Given the description of an element on the screen output the (x, y) to click on. 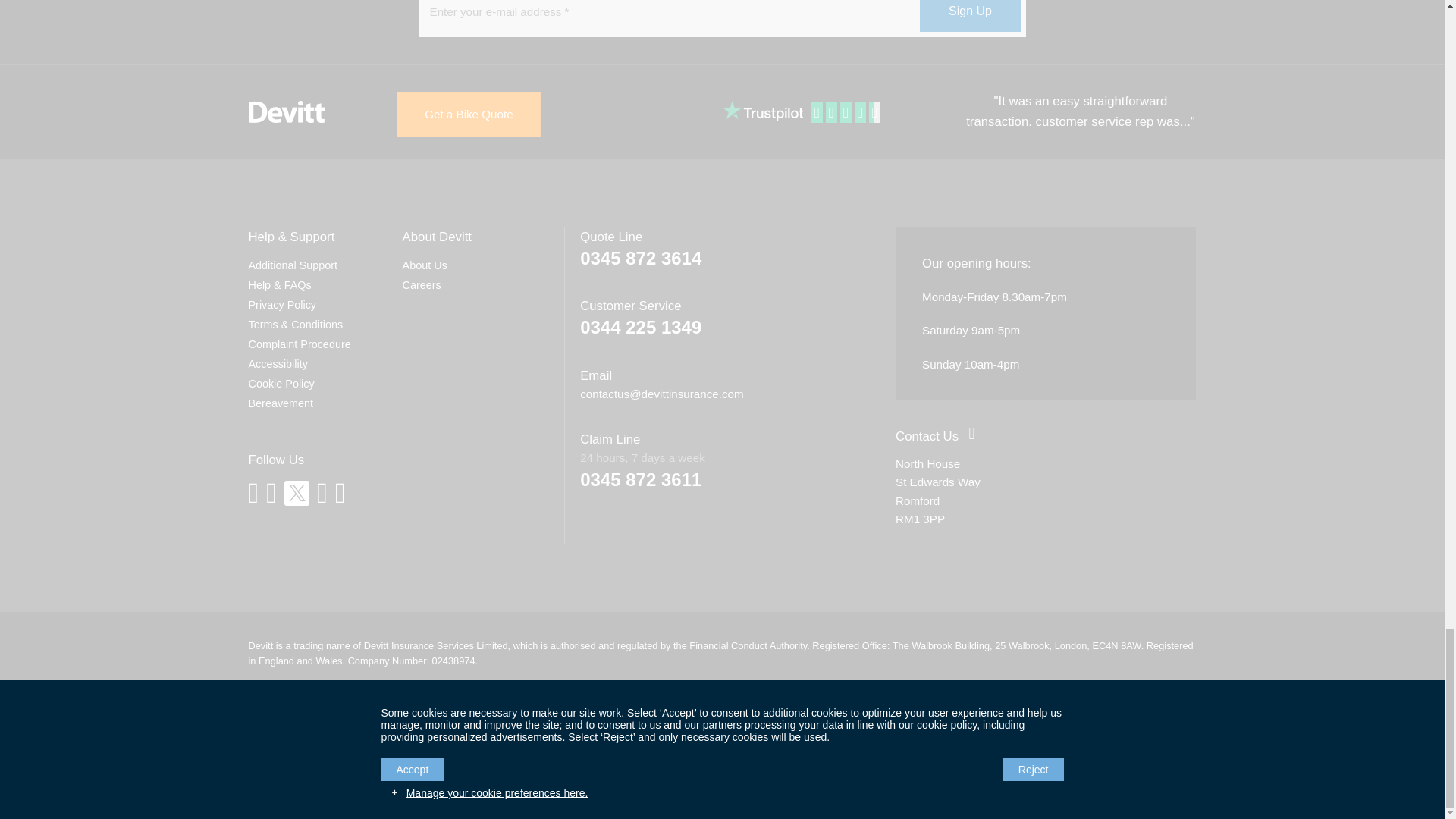
Follow us on Twitter (295, 493)
Return to Devitt Insurance homepage (286, 111)
Rated 4.5 stars out of 5 (846, 113)
Sign Up (969, 15)
Get in-touch with the Devitt team (926, 436)
